Given the description of an element on the screen output the (x, y) to click on. 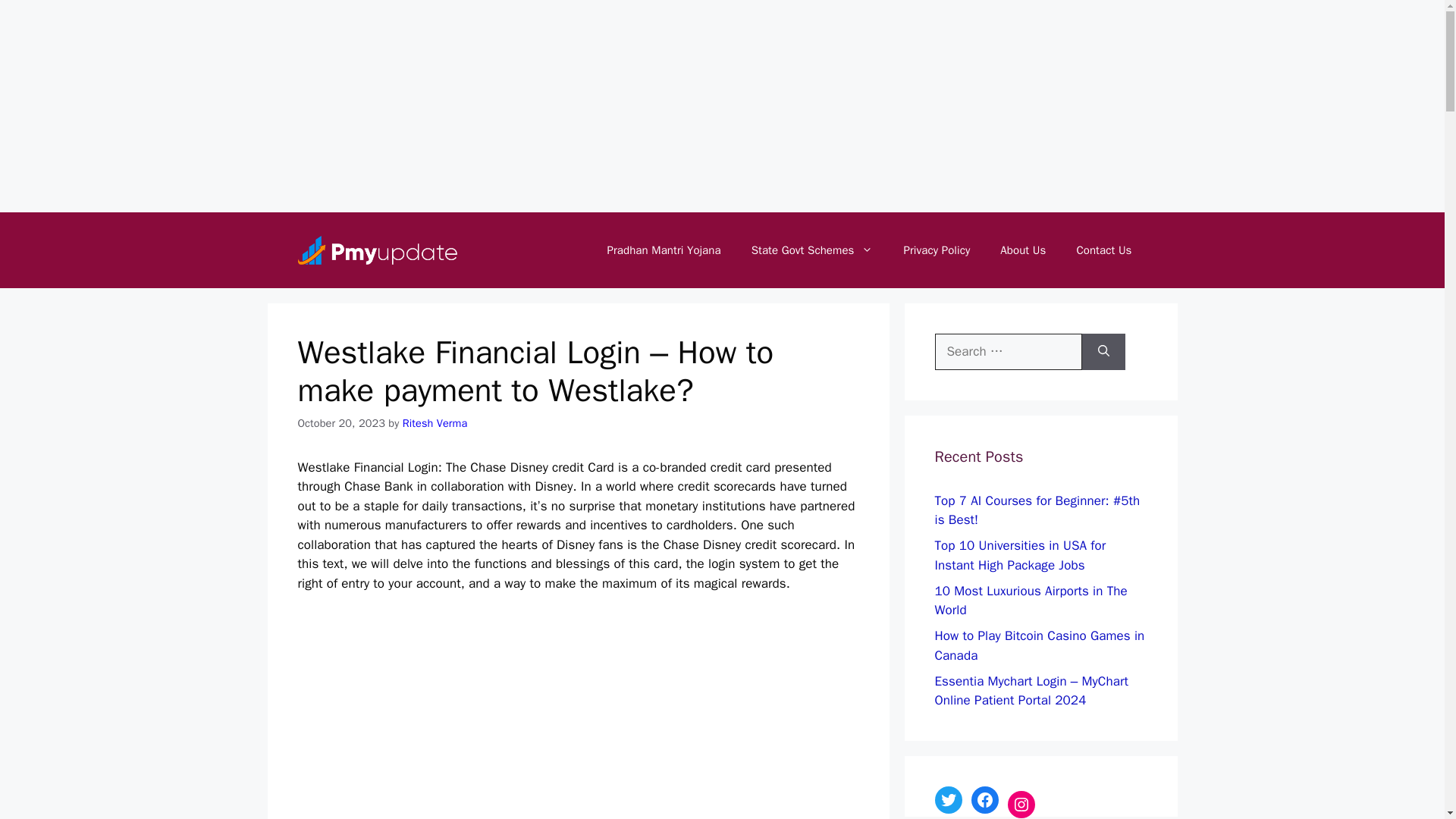
Search for: (1007, 351)
State Govt Schemes (812, 249)
View all posts by Ritesh Verma (435, 422)
About Us (1023, 249)
Ritesh Verma (435, 422)
Pradhan Mantri Yojana (663, 249)
Advertisement (588, 715)
Contact Us (1104, 249)
Privacy Policy (936, 249)
